Given the description of an element on the screen output the (x, y) to click on. 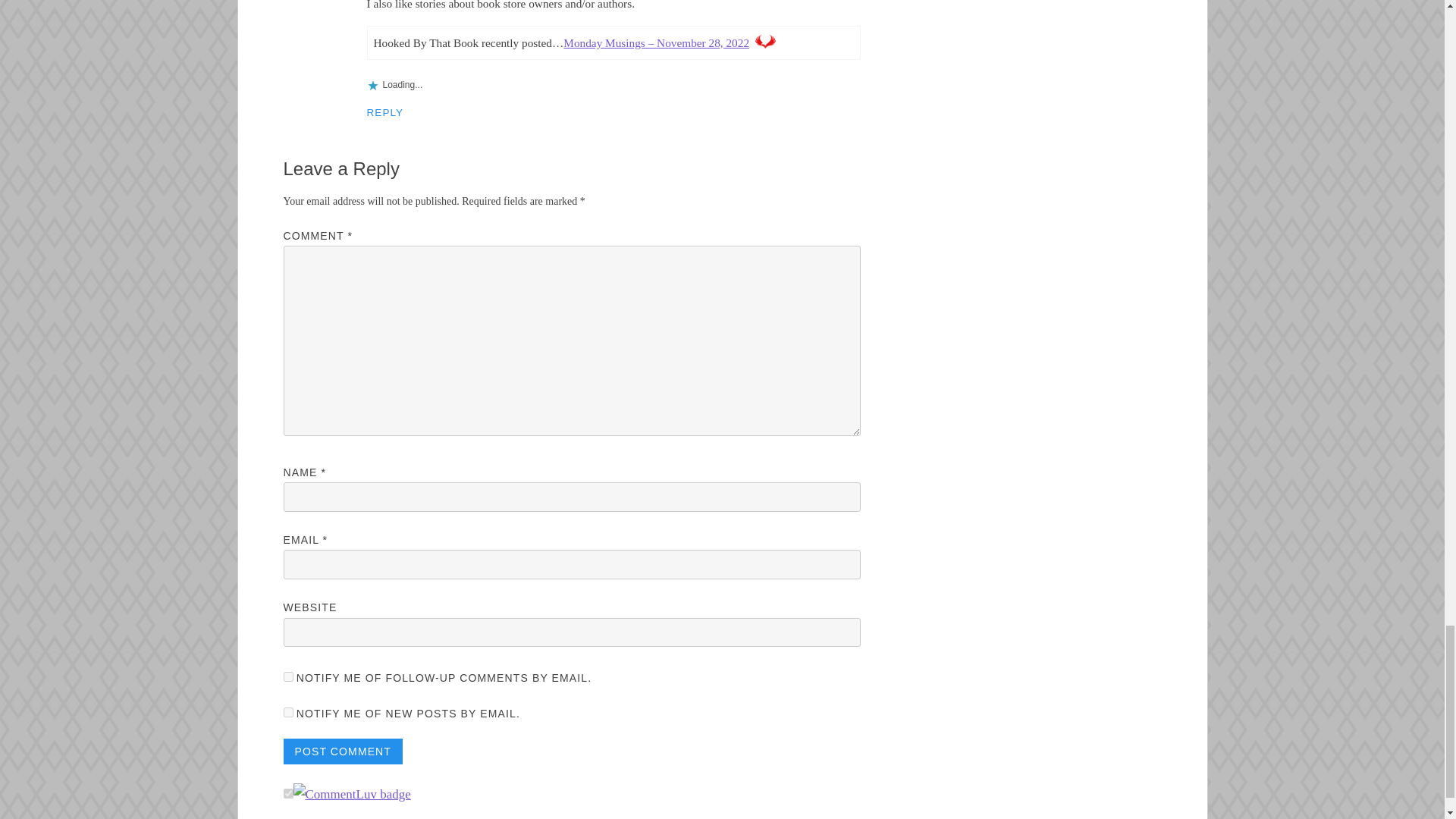
CommentLuv is enabled (351, 794)
Post Comment (343, 751)
subscribe (288, 712)
subscribe (288, 676)
on (288, 793)
